Given the description of an element on the screen output the (x, y) to click on. 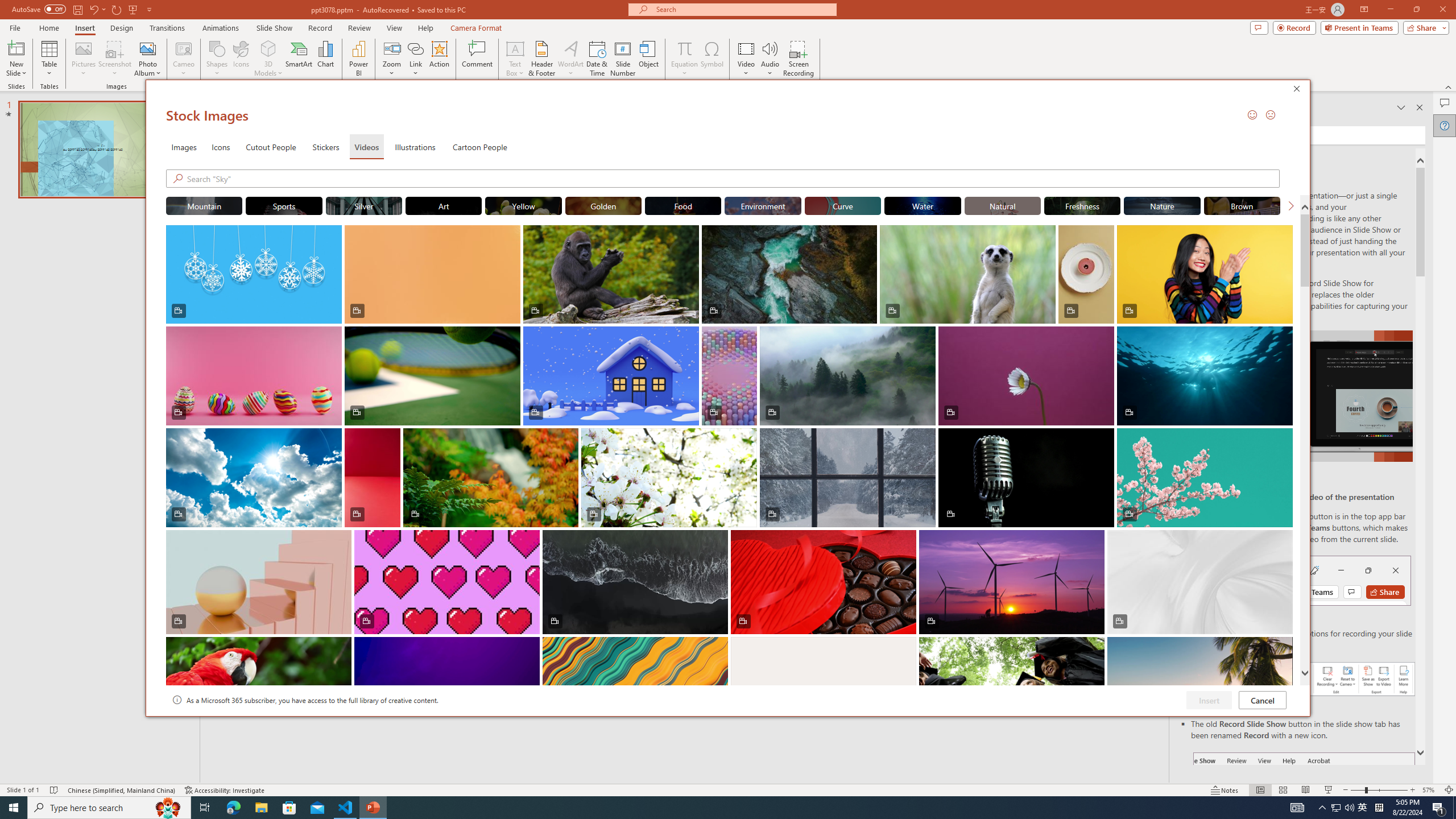
Send a Frown (1269, 114)
Screen Recording... (798, 58)
WordArt (570, 58)
"Golden" Stock Videos. (603, 205)
Equation (683, 48)
